Given the description of an element on the screen output the (x, y) to click on. 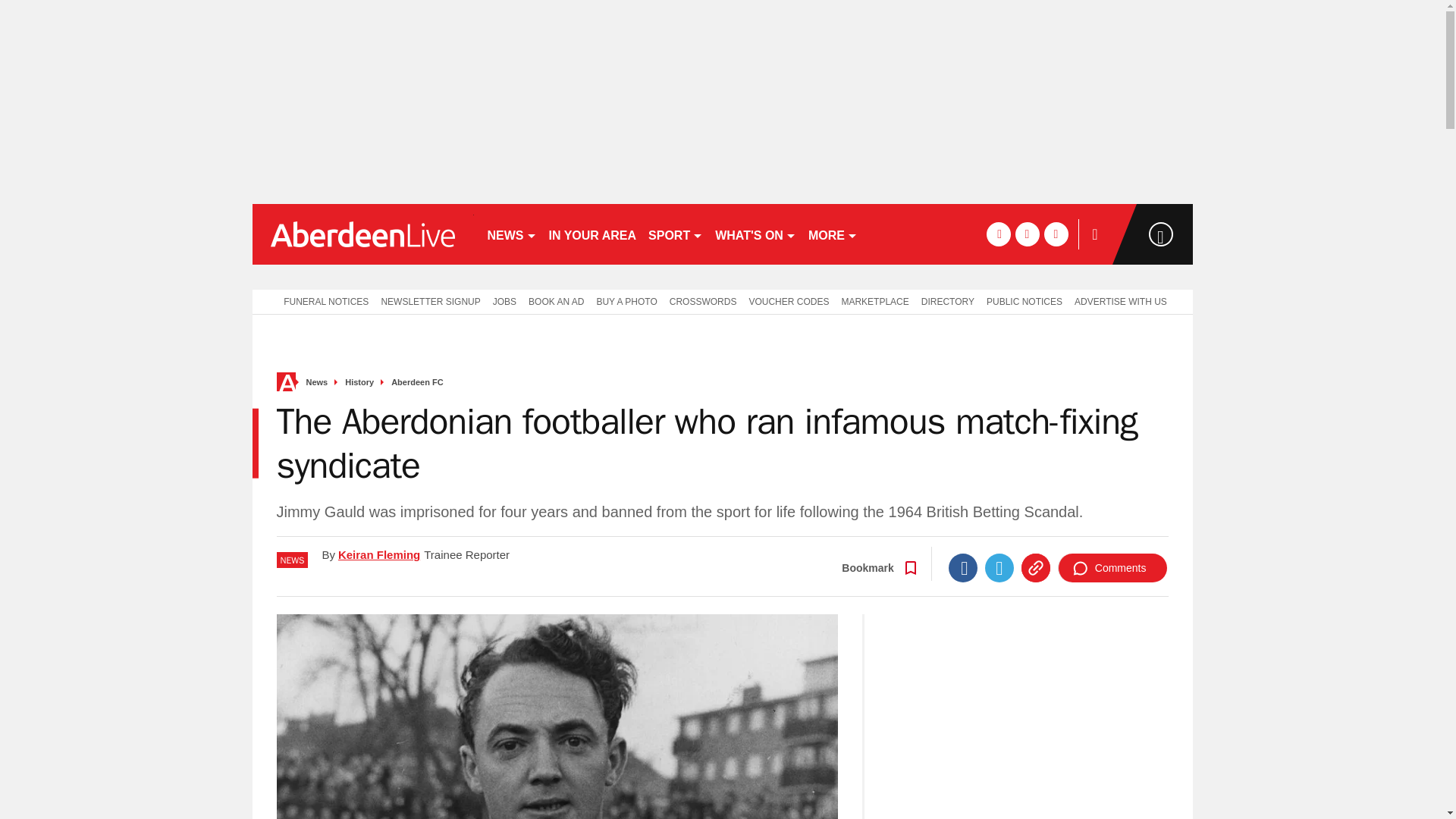
aberdeenlive (362, 233)
twitter (1026, 233)
Comments (1112, 567)
SPORT (675, 233)
Facebook (962, 567)
NEWSLETTER SIGNUP (430, 300)
facebook (997, 233)
CROSSWORDS (702, 300)
FUNERAL NOTICES (322, 300)
WHAT'S ON (755, 233)
